Given the description of an element on the screen output the (x, y) to click on. 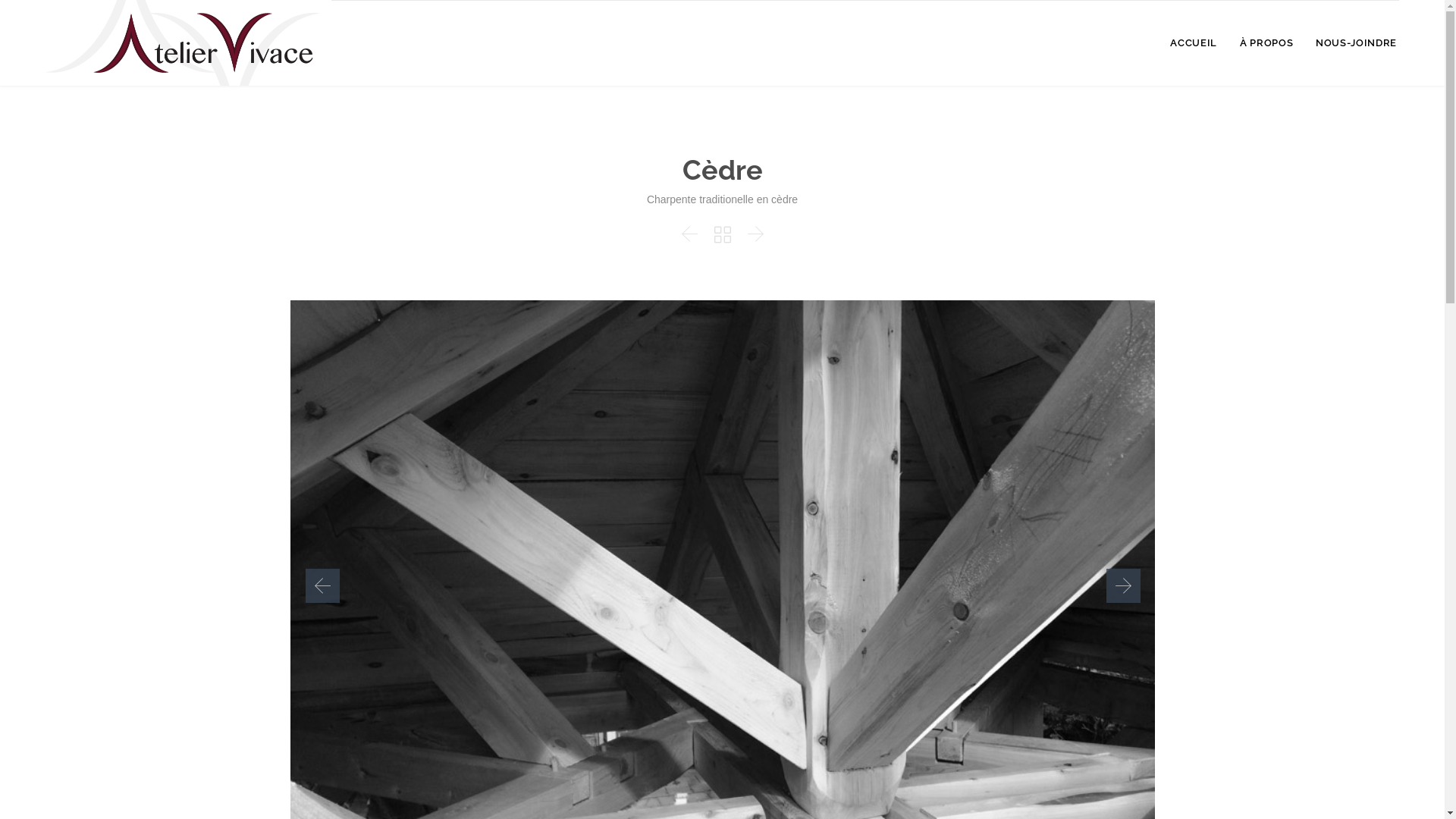
ACCUEIL Element type: text (1193, 44)
Atelier Vivace Element type: hover (188, 42)
Skip to content Element type: text (1407, 24)
NOUS-JOINDRE Element type: text (1355, 44)
